Given the description of an element on the screen output the (x, y) to click on. 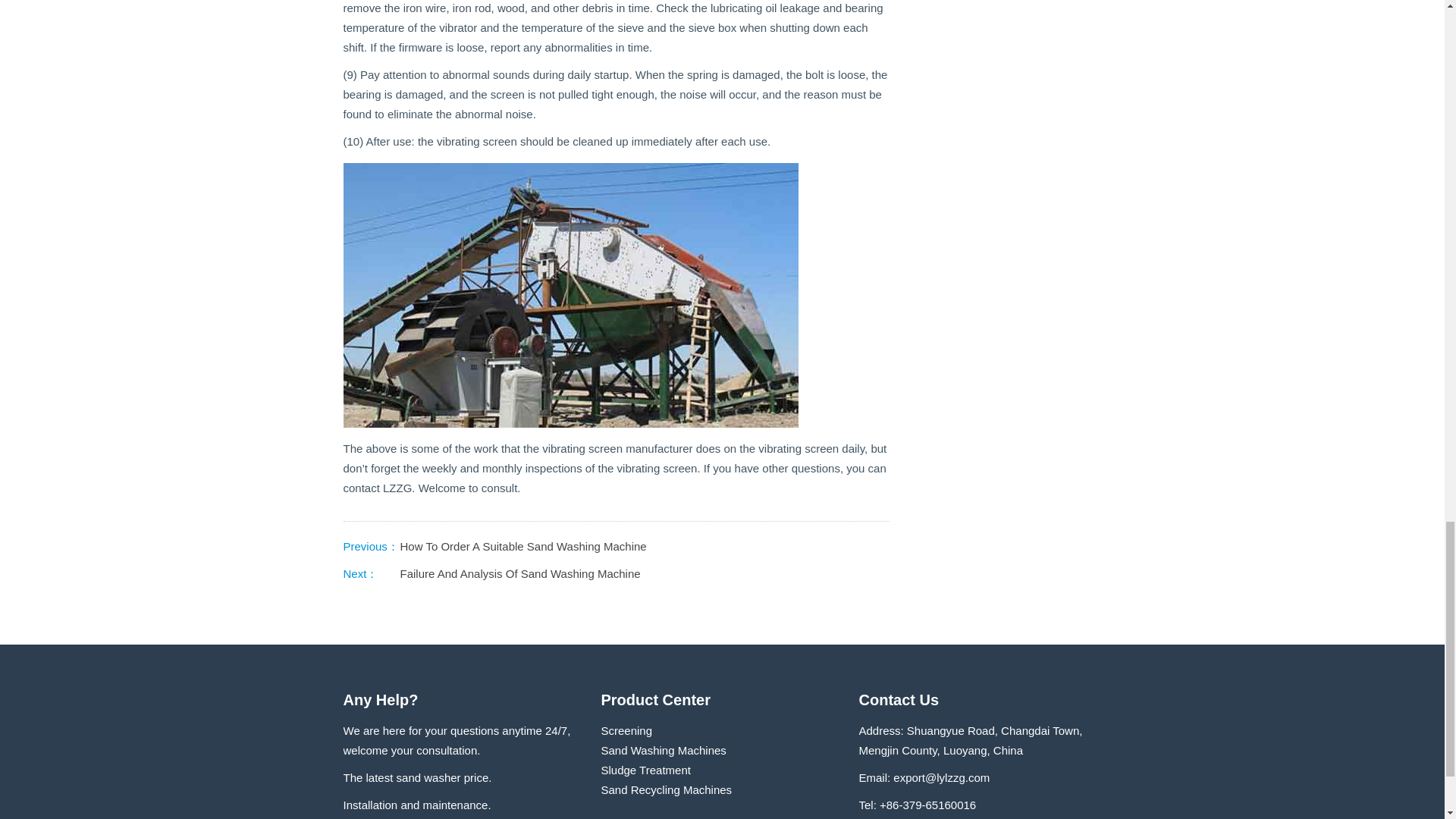
Failure And Analysis Of Sand Washing Machine (520, 573)
Sand Washing Machines (662, 749)
Sand Recycling Machines (665, 789)
Screening (625, 730)
How To Order A Suitable Sand Washing Machine (523, 545)
Sludge Treatment (644, 769)
